Given the description of an element on the screen output the (x, y) to click on. 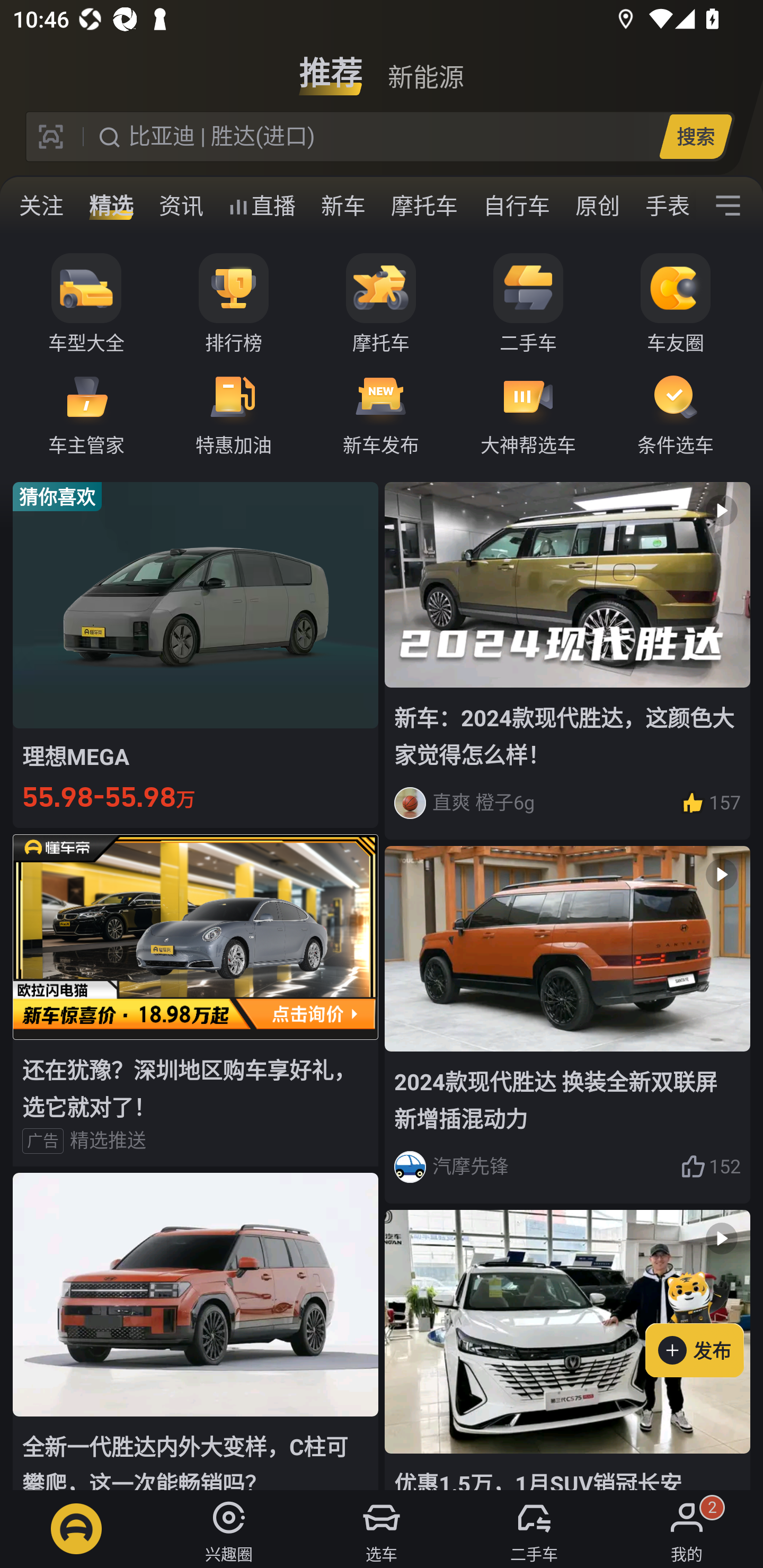
推荐 (330, 65)
新能源 (425, 65)
搜索 (695, 136)
关注 (41, 205)
精选 (111, 205)
资讯 (180, 205)
直播 (261, 205)
新车 (343, 205)
摩托车 (424, 205)
自行车 (516, 205)
原创 (597, 205)
手表 (663, 205)
 (727, 205)
车型大全 (86, 303)
排行榜 (233, 303)
摩托车 (380, 303)
二手车 (528, 303)
车友圈 (675, 303)
车主管家 (86, 412)
特惠加油 (233, 412)
新车发布 (380, 412)
大神帮选车 (528, 412)
条件选车 (675, 412)
猜你喜欢 理想MEGA 55.98-55.98万 (195, 654)
 新车：2024款现代胜达，这颜色大家觉得怎么样！ 直爽 橙子6g 157 (567, 659)
157 (710, 802)
还在犹豫？深圳地区购车享好礼，选它就对了！ 广告 精选推送 (195, 1000)
 2024款现代胜达 换装全新双联屏 新增插混动力 汽摩先锋 152 (567, 1025)
152 (710, 1166)
全新一代胜达内外大变样，C柱可攀爬，这一次能畅销吗？ (195, 1330)
 优惠1.5万，1月SUV销冠长安CS75PLUS为何值得买？性价比是亮点！ (567, 1349)
发布 (704, 1320)
 兴趣圈 (228, 1528)
 选车 (381, 1528)
 二手车 (533, 1528)
 我的 (686, 1528)
